Given the description of an element on the screen output the (x, y) to click on. 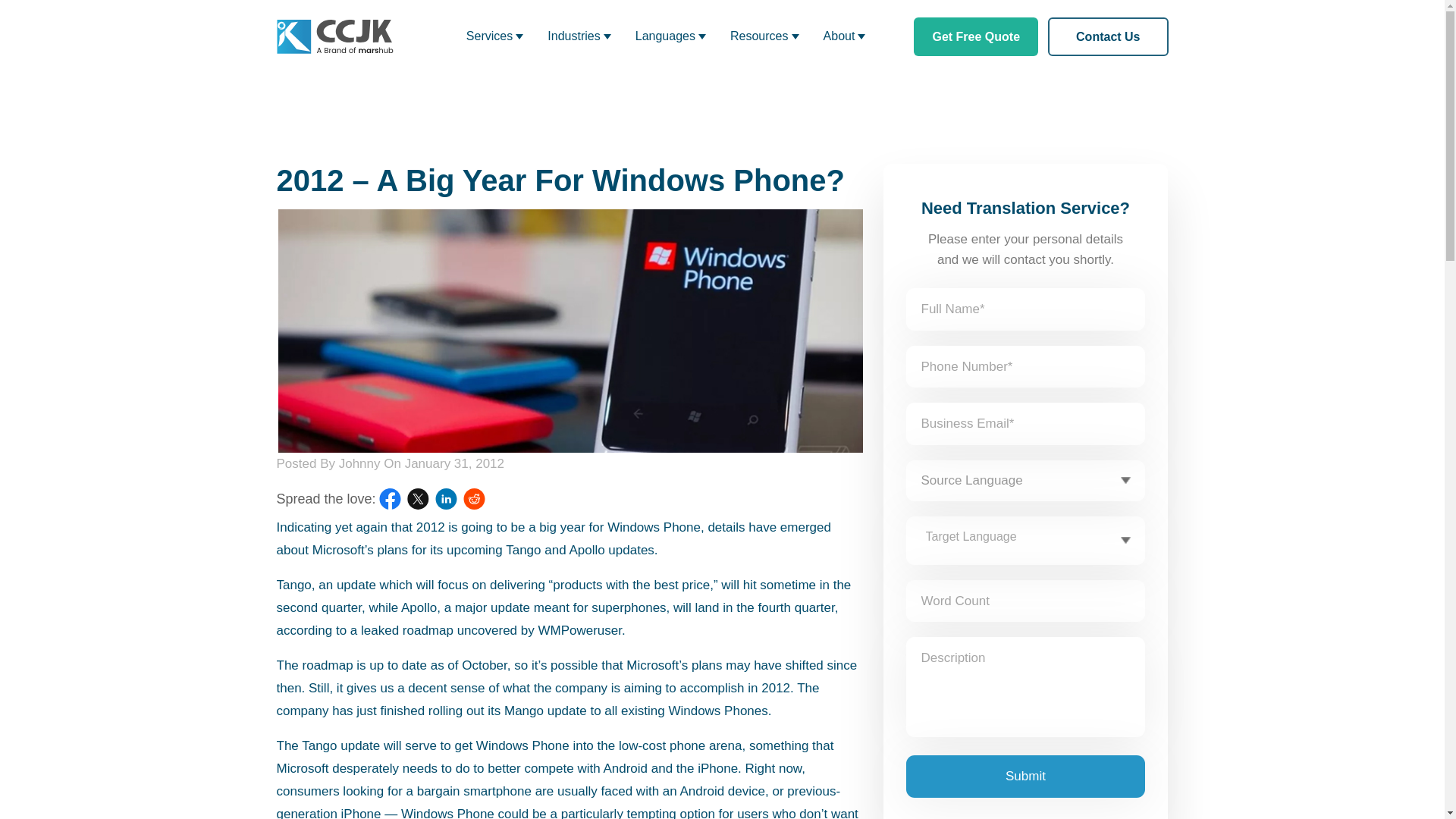
Industries (578, 36)
Tweet this (418, 498)
Services (494, 36)
Languages (669, 36)
Submit (1024, 776)
